Given the description of an element on the screen output the (x, y) to click on. 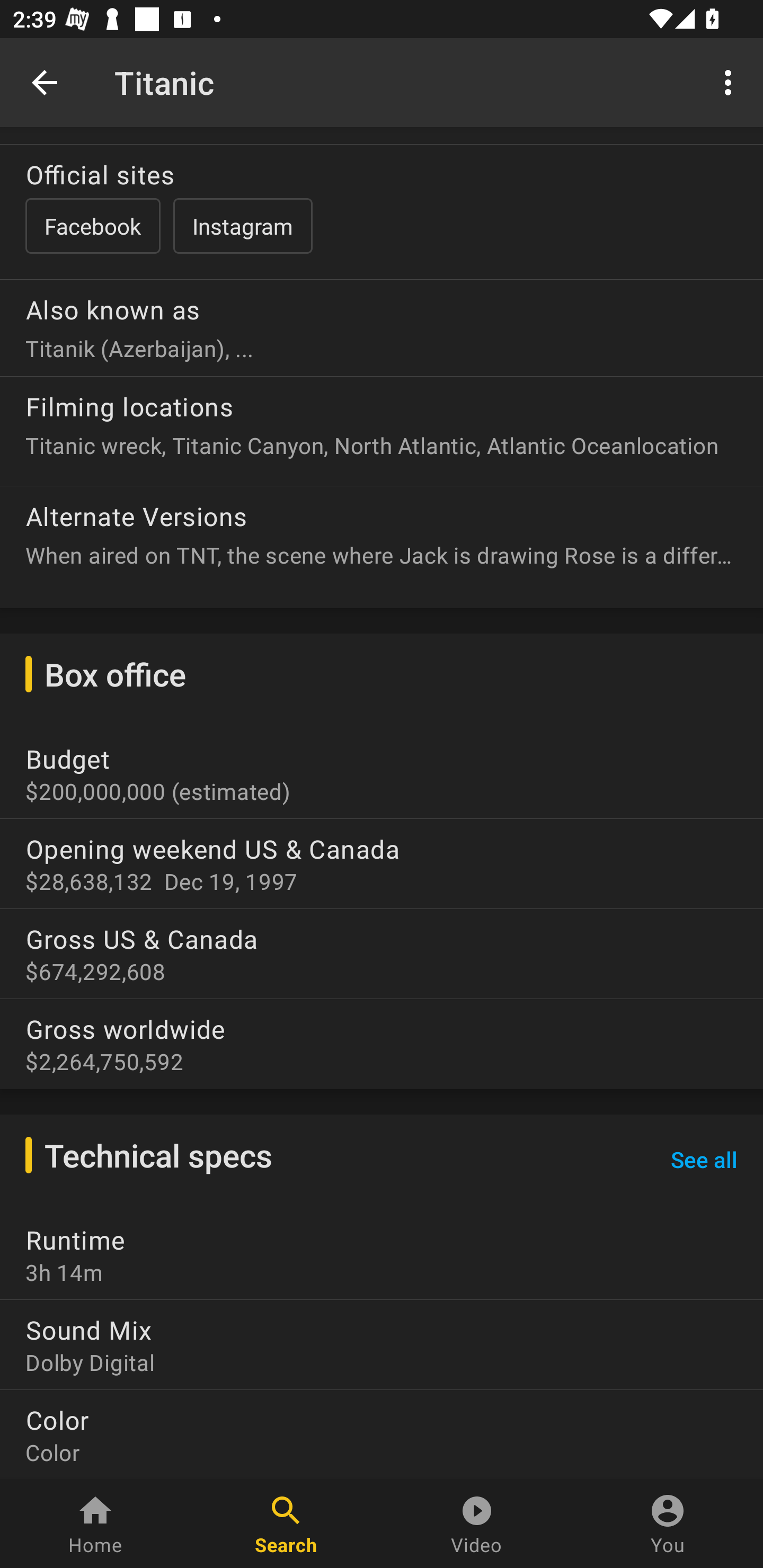
More options (731, 81)
Facebook (92, 225)
Instagram (242, 225)
Also known as Titanik (Azerbaijan), ... (381, 321)
See all See all Technical specs (703, 1159)
Home (95, 1523)
Video (476, 1523)
You (667, 1523)
